Given the description of an element on the screen output the (x, y) to click on. 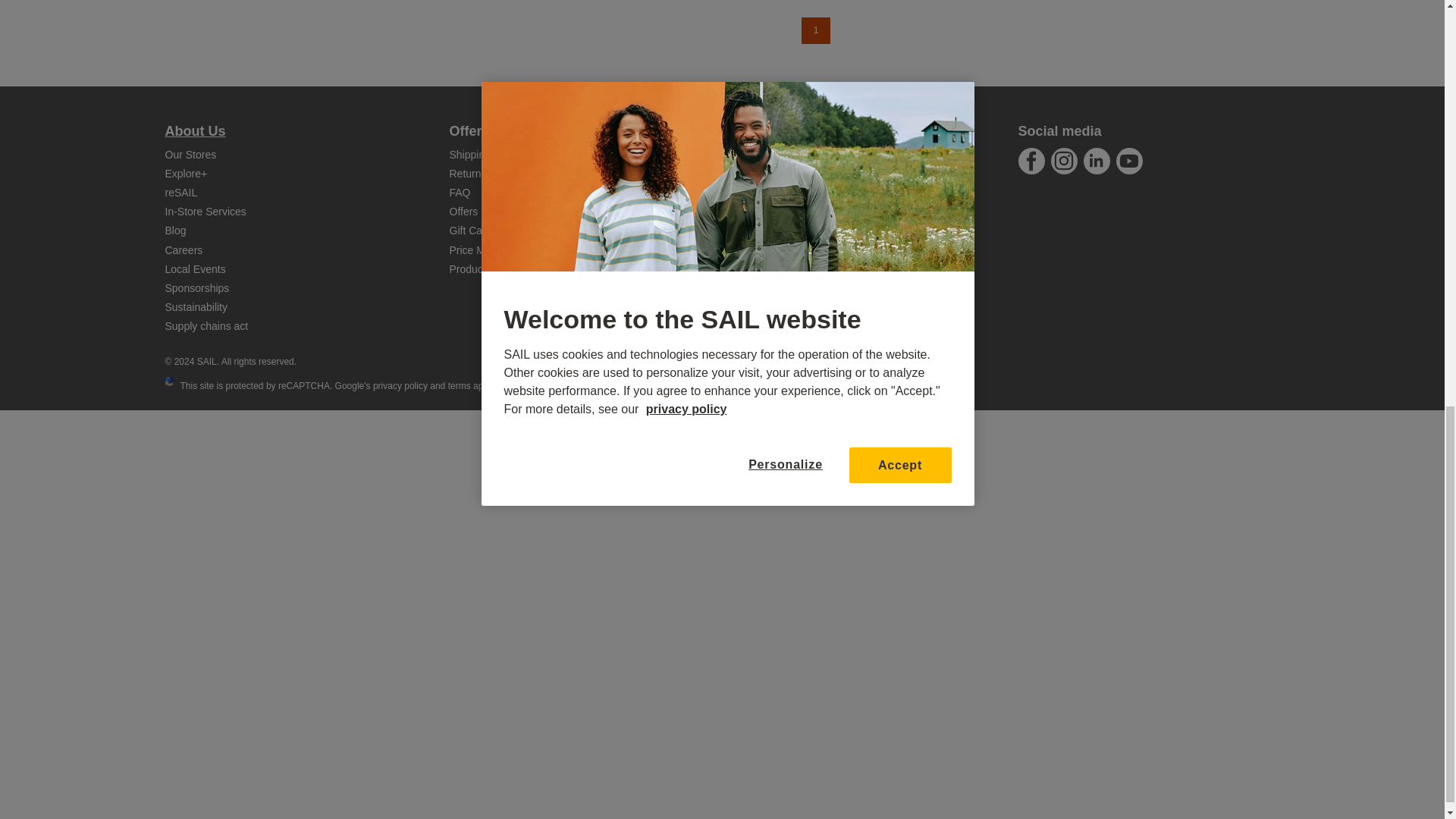
Rewards Program (186, 173)
In-Store Services (205, 211)
Sail Blog (175, 230)
Our Stores (190, 154)
Career (184, 250)
Plateform for second-hand products (181, 192)
Local Events (195, 268)
